Given the description of an element on the screen output the (x, y) to click on. 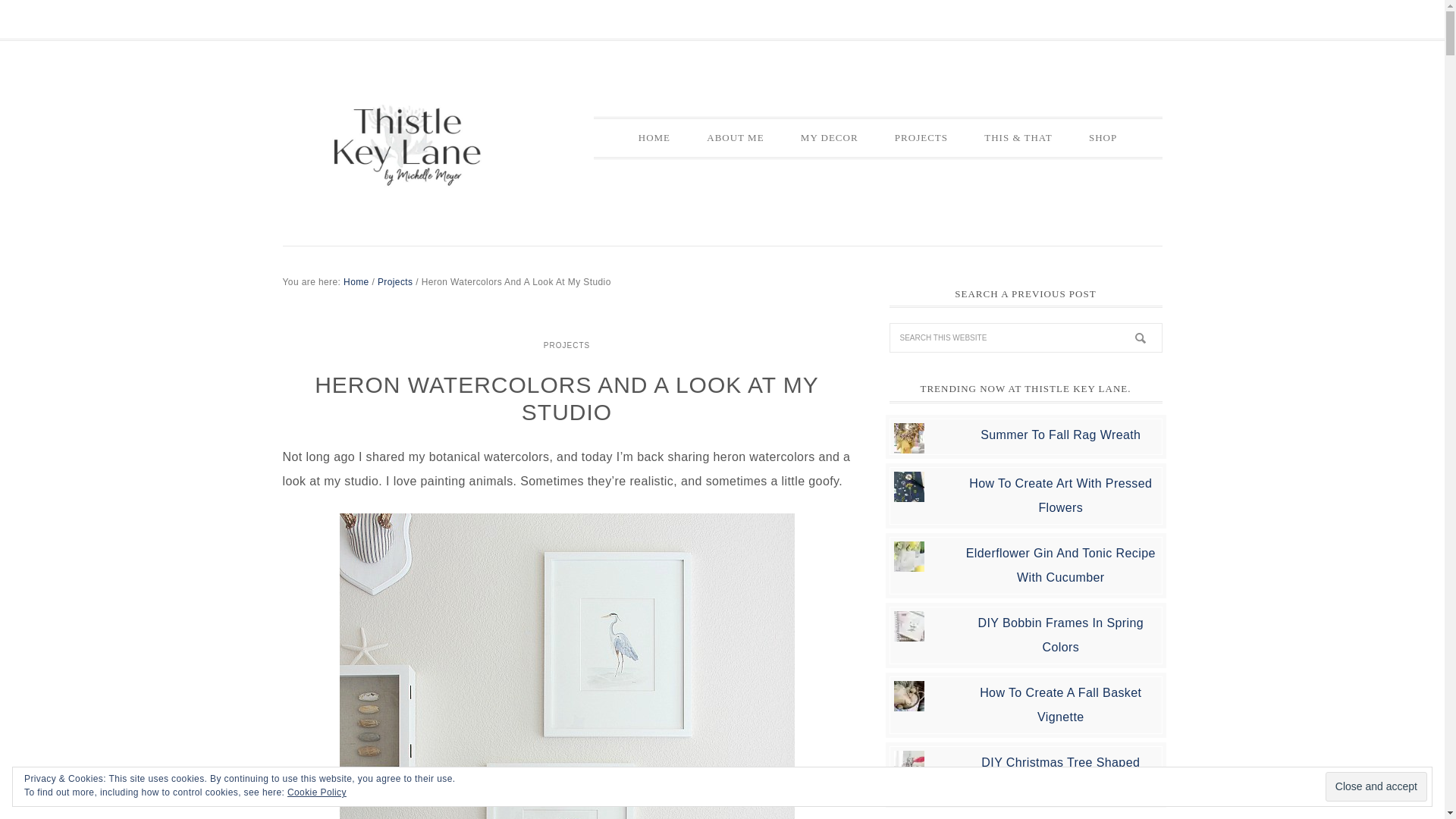
Projects (395, 281)
SHOP (1102, 137)
Summer To Fall Rag Wreath (1059, 433)
PROJECTS (566, 344)
ABOUT ME (735, 137)
THISTLE KEY LANE (407, 146)
PROJECTS (920, 137)
Close and accept (1375, 786)
MY DECOR (829, 137)
HOME (654, 137)
